Given the description of an element on the screen output the (x, y) to click on. 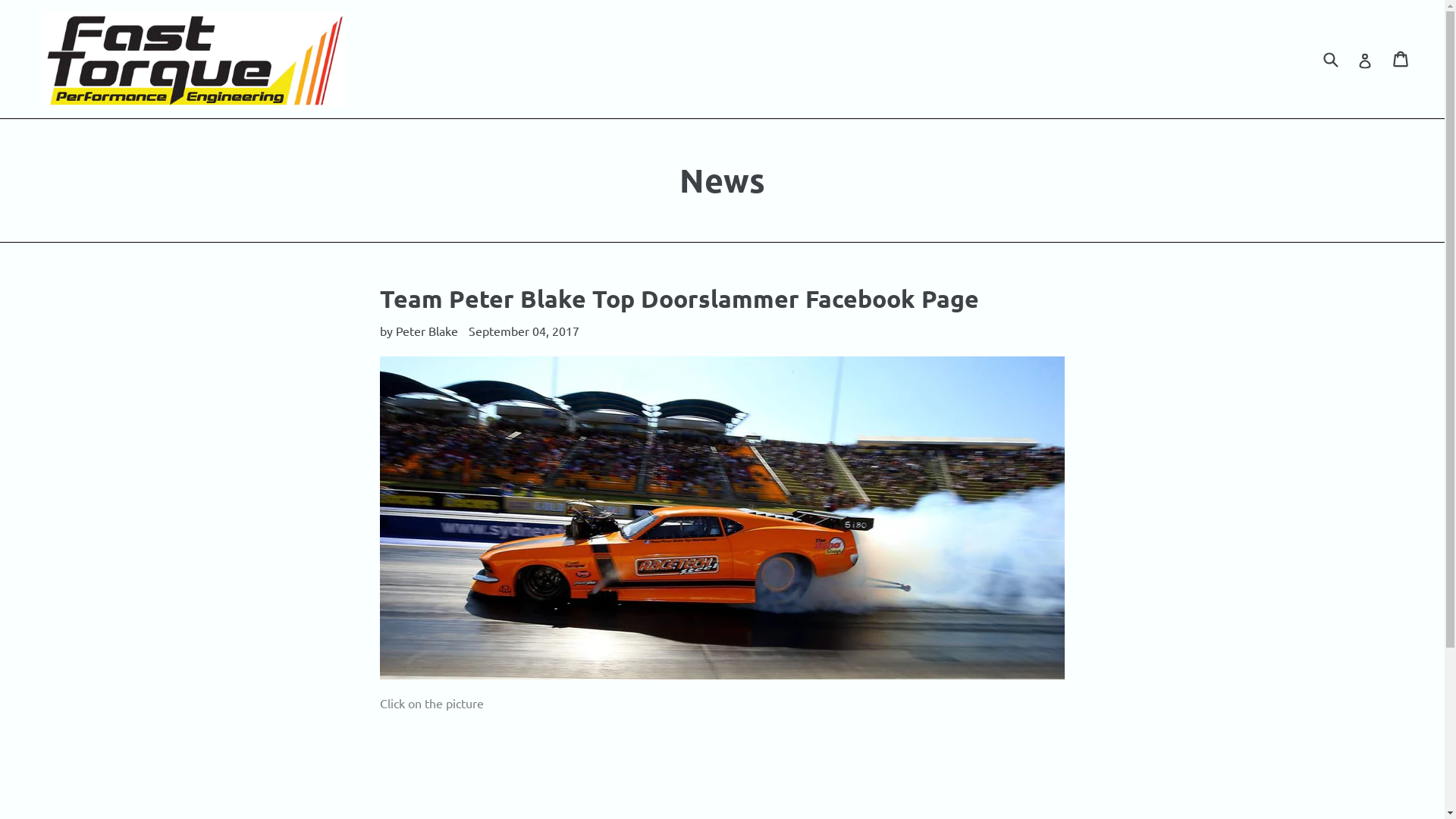
Log in Element type: text (1364, 59)
Team Peter Blake Top Doorslammer Facebook Page Element type: text (679, 298)
Cart
Cart Element type: text (1401, 58)
Submit Element type: text (1329, 58)
